Given the description of an element on the screen output the (x, y) to click on. 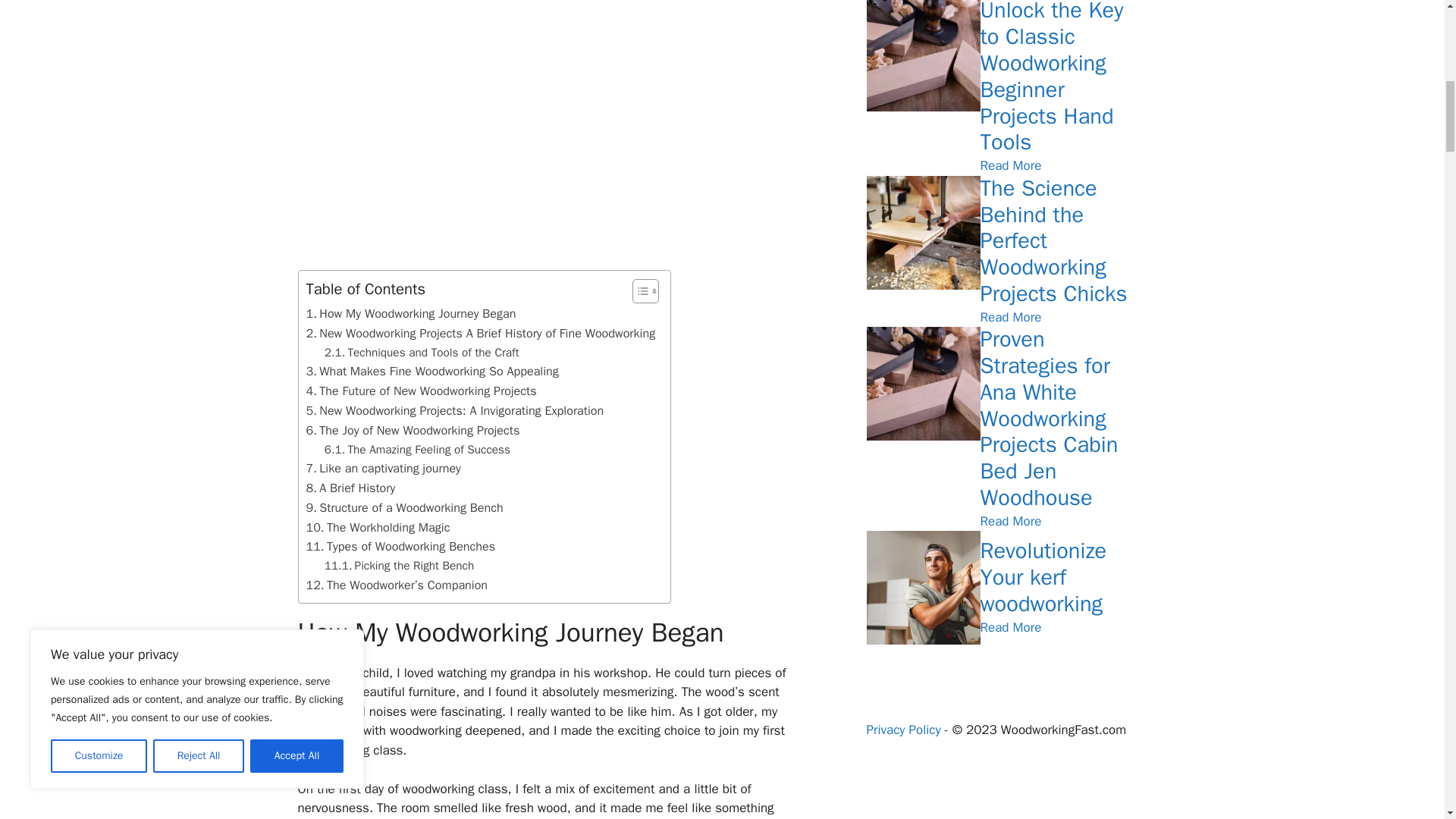
YouTube video player (509, 124)
Techniques and Tools of the Craft (421, 352)
How My Woodworking Journey Began (410, 313)
Types of Woodworking Benches (400, 546)
Like an captivating journey (383, 468)
The Workholding Magic (377, 527)
The Joy of New Woodworking Projects (412, 430)
The Joy of New Woodworking Projects (412, 430)
The Future of New Woodworking Projects (421, 391)
Techniques and Tools of the Craft (421, 352)
